Given the description of an element on the screen output the (x, y) to click on. 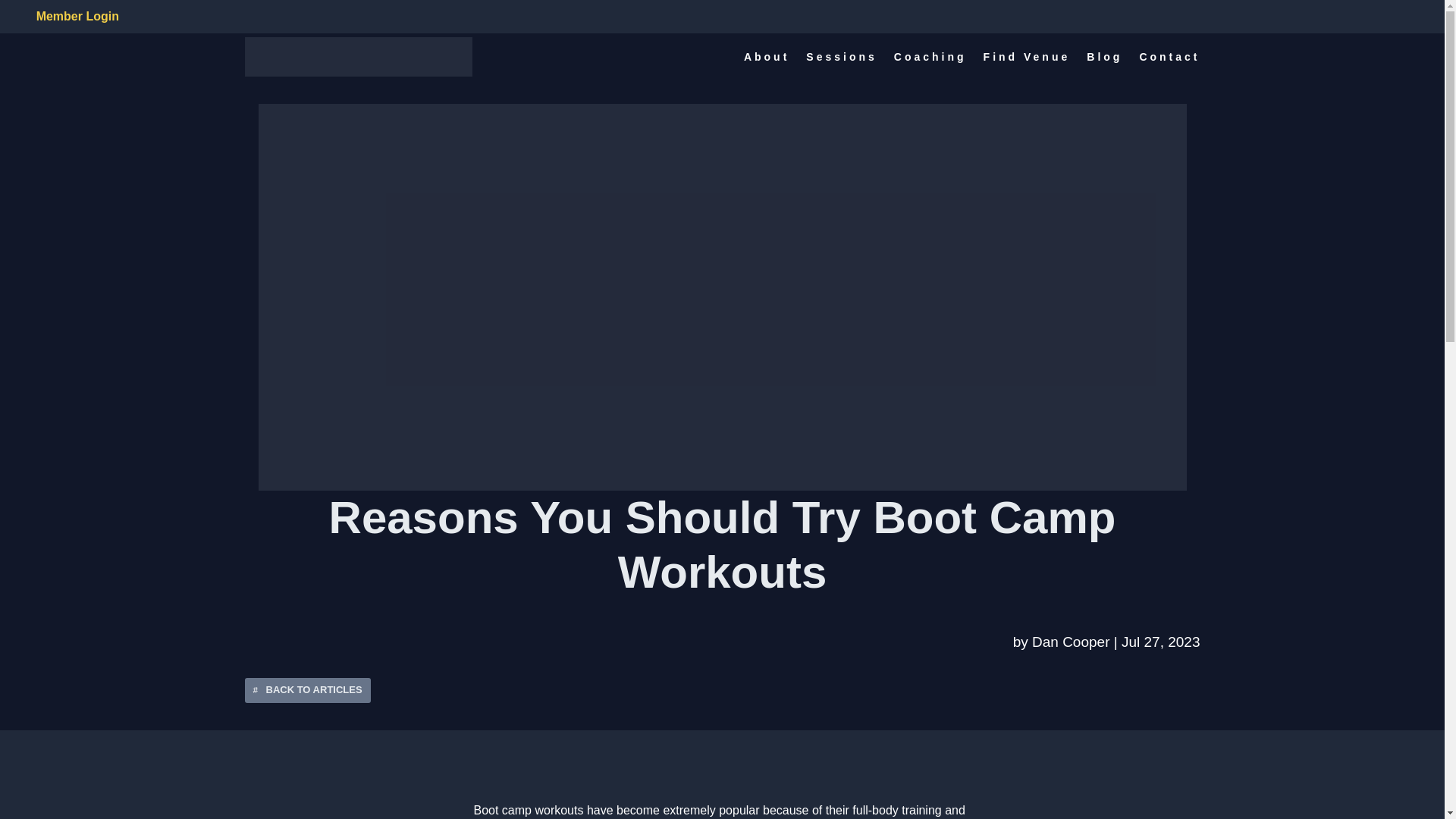
BACK TO ARTICLES (306, 690)
Dan Cooper (1070, 641)
Posts by Dan Cooper (1070, 641)
